Given the description of an element on the screen output the (x, y) to click on. 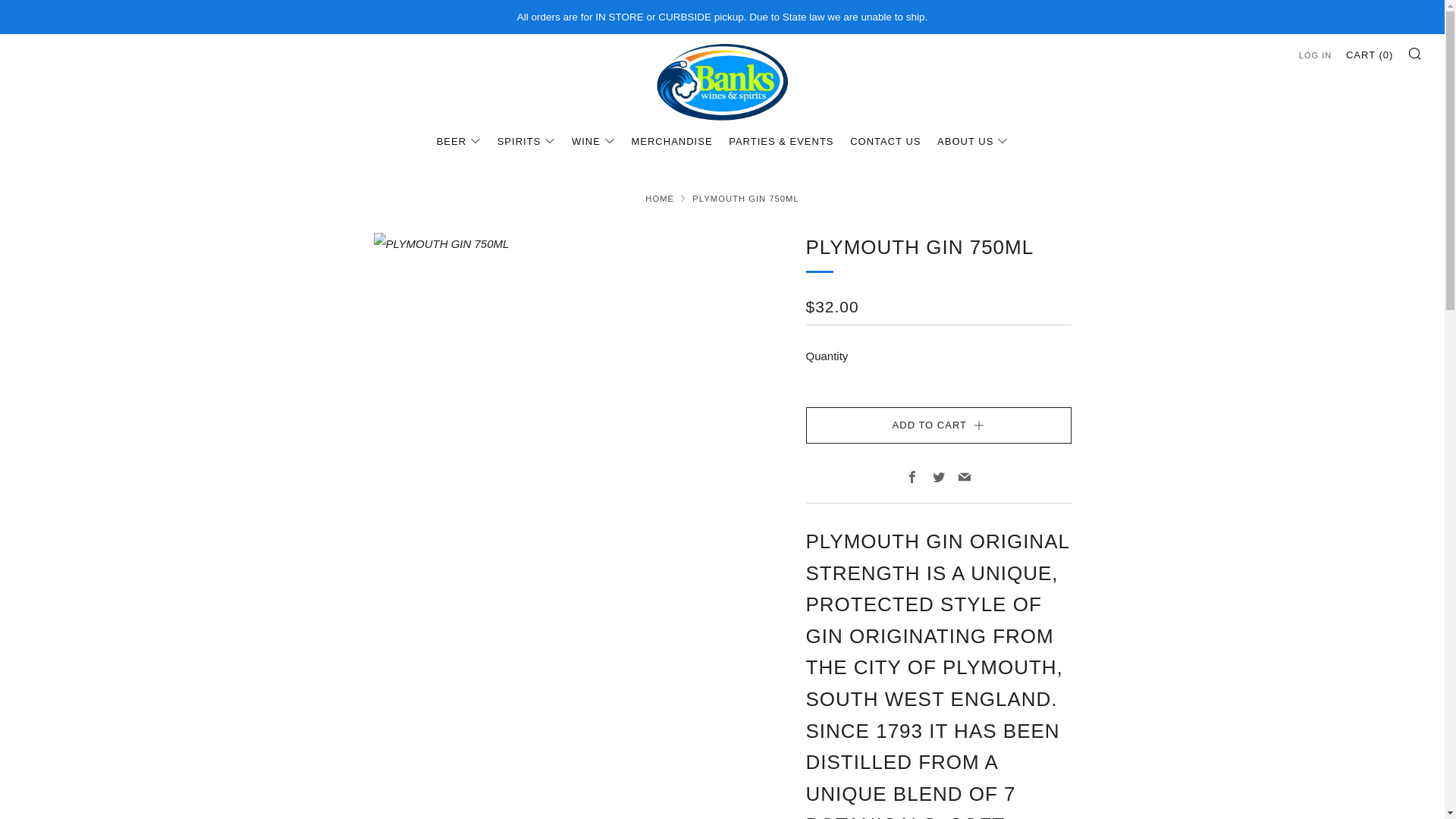
Home (659, 198)
